Given the description of an element on the screen output the (x, y) to click on. 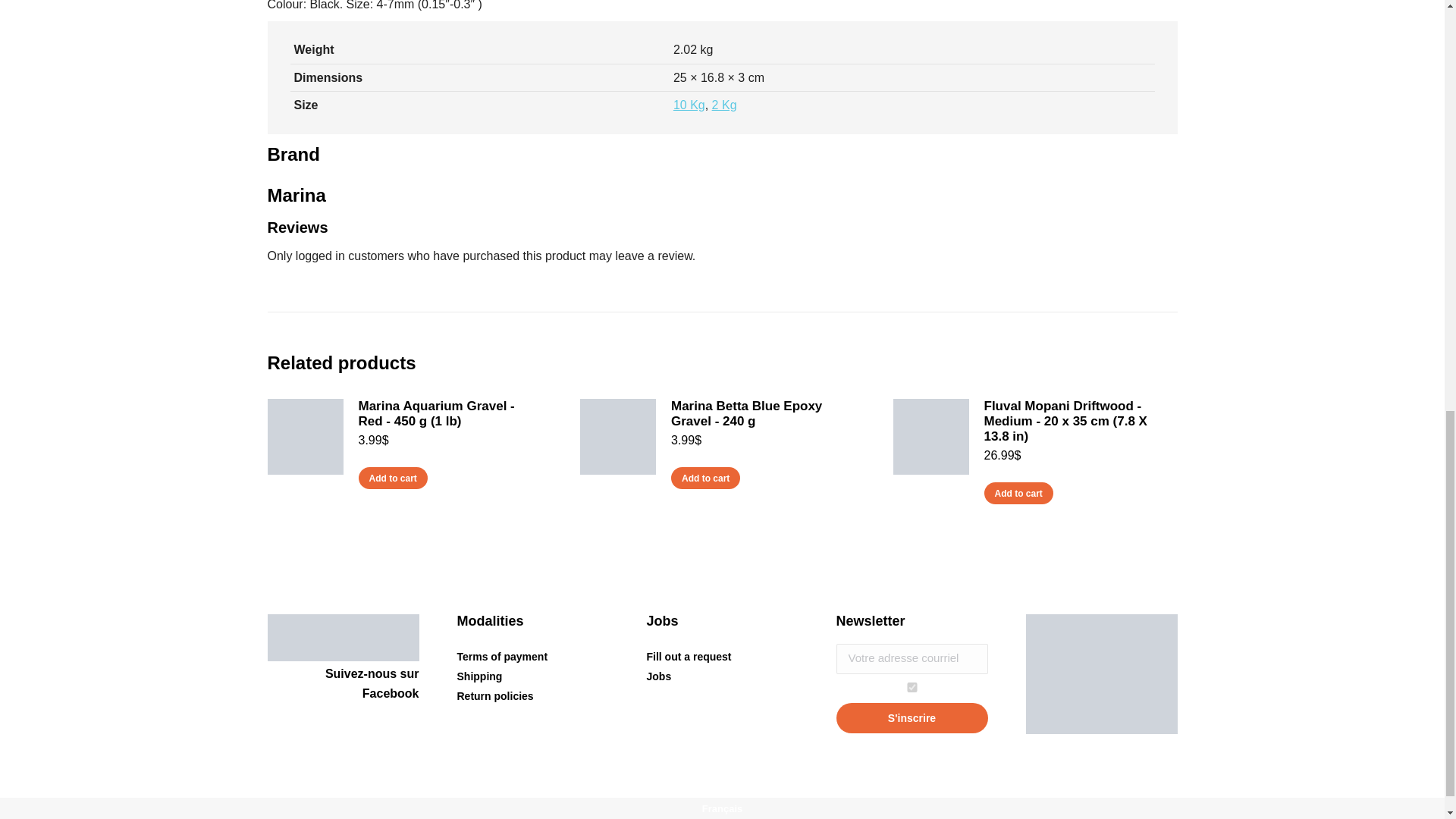
3da2cafd13 (911, 687)
S'inscrire (911, 717)
